Given the description of an element on the screen output the (x, y) to click on. 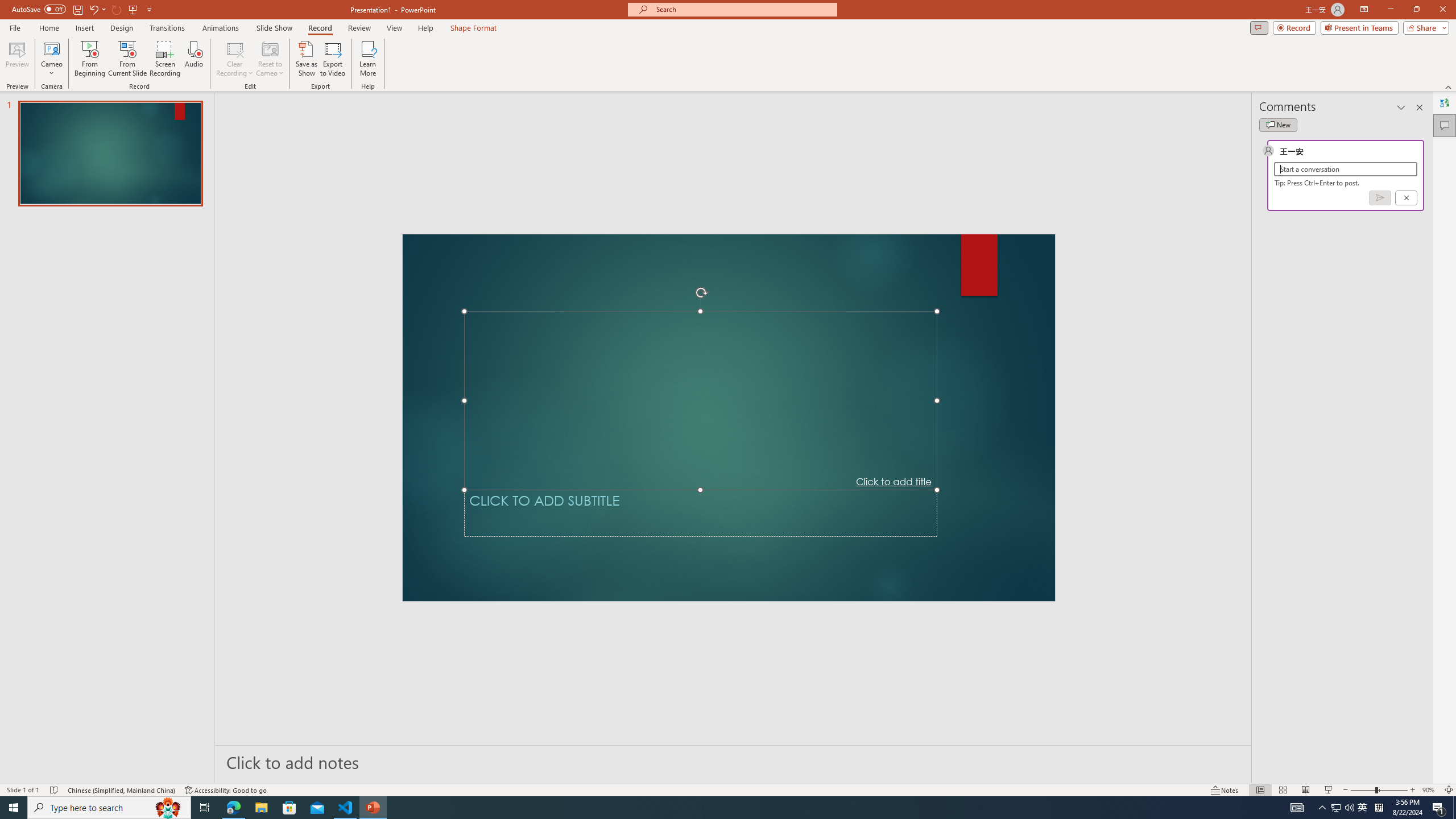
Post comment (Ctrl + Enter) (1379, 197)
